Given the description of an element on the screen output the (x, y) to click on. 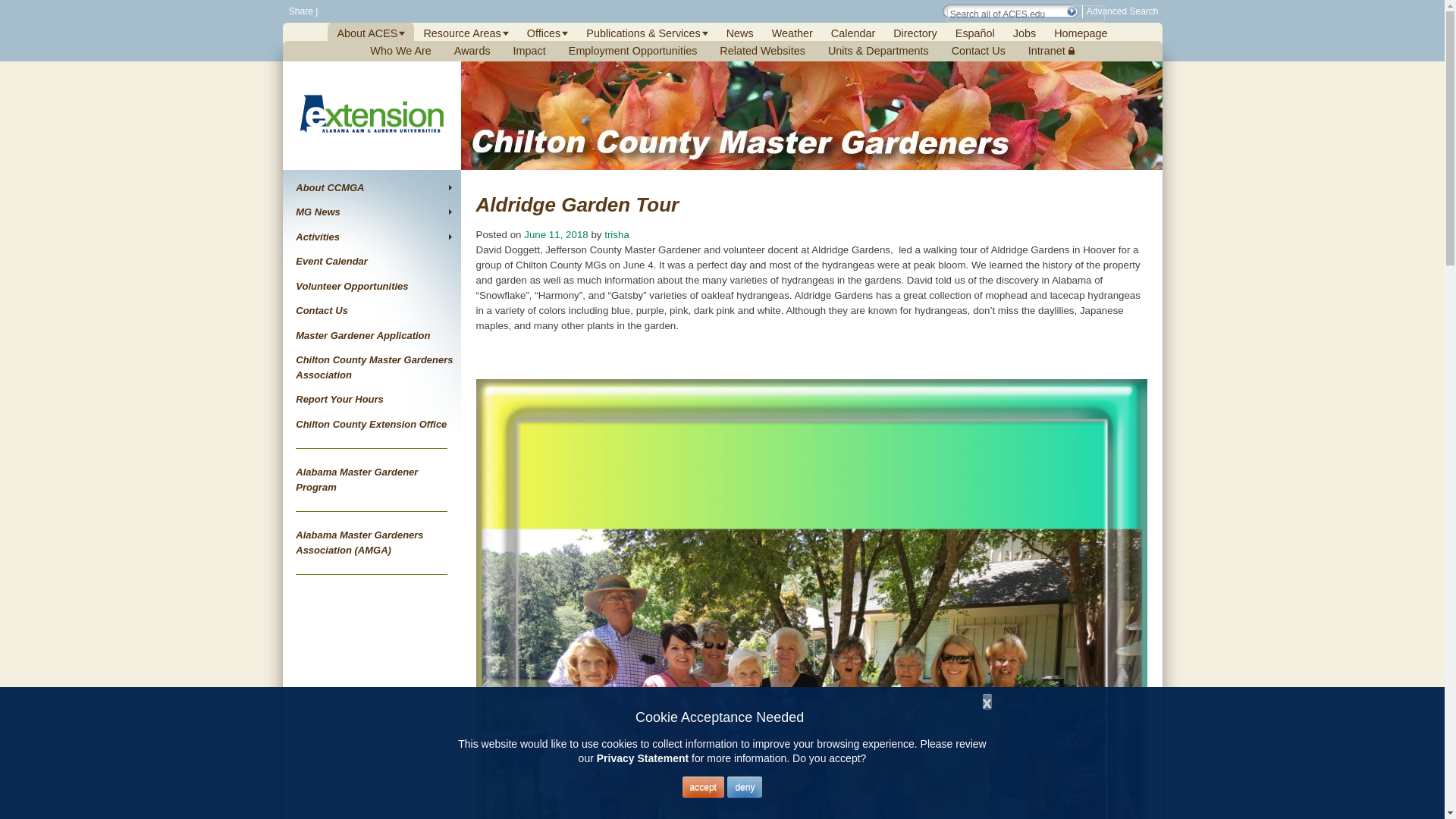
About ACES (371, 33)
Resource Areas (465, 33)
Homepage (1080, 33)
Jobs (1023, 33)
Directory (914, 33)
Advanced Search (1122, 10)
Search all of ACES.edu (1026, 13)
Who We Are (400, 50)
Calendar (852, 33)
News (739, 33)
Weather (791, 33)
Employment Opportunities (633, 50)
Search all of ACES.edu (1026, 13)
Offices (547, 33)
Awards (472, 50)
